Given the description of an element on the screen output the (x, y) to click on. 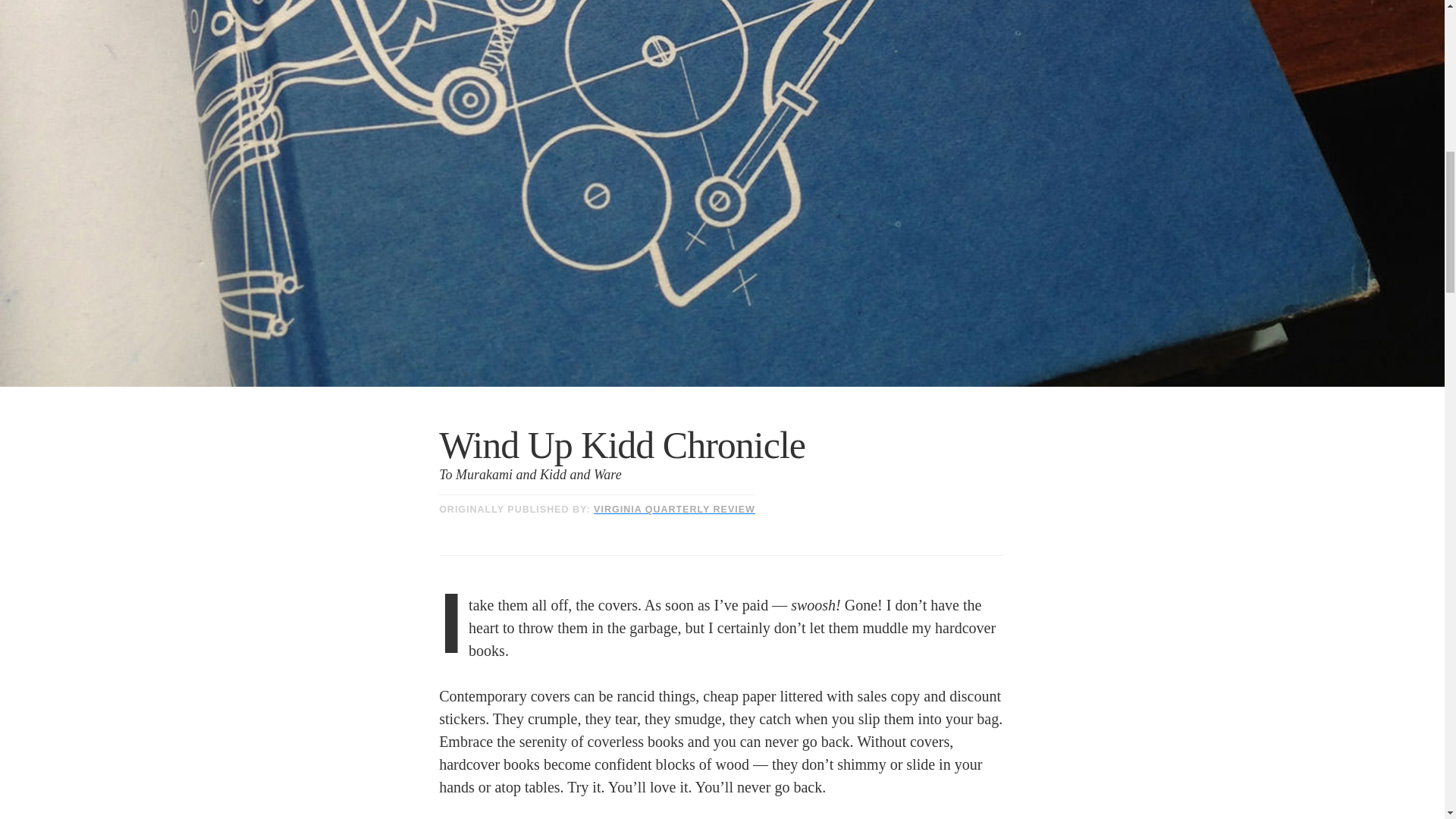
VIRGINIA QUARTERLY REVIEW (674, 509)
